Given the description of an element on the screen output the (x, y) to click on. 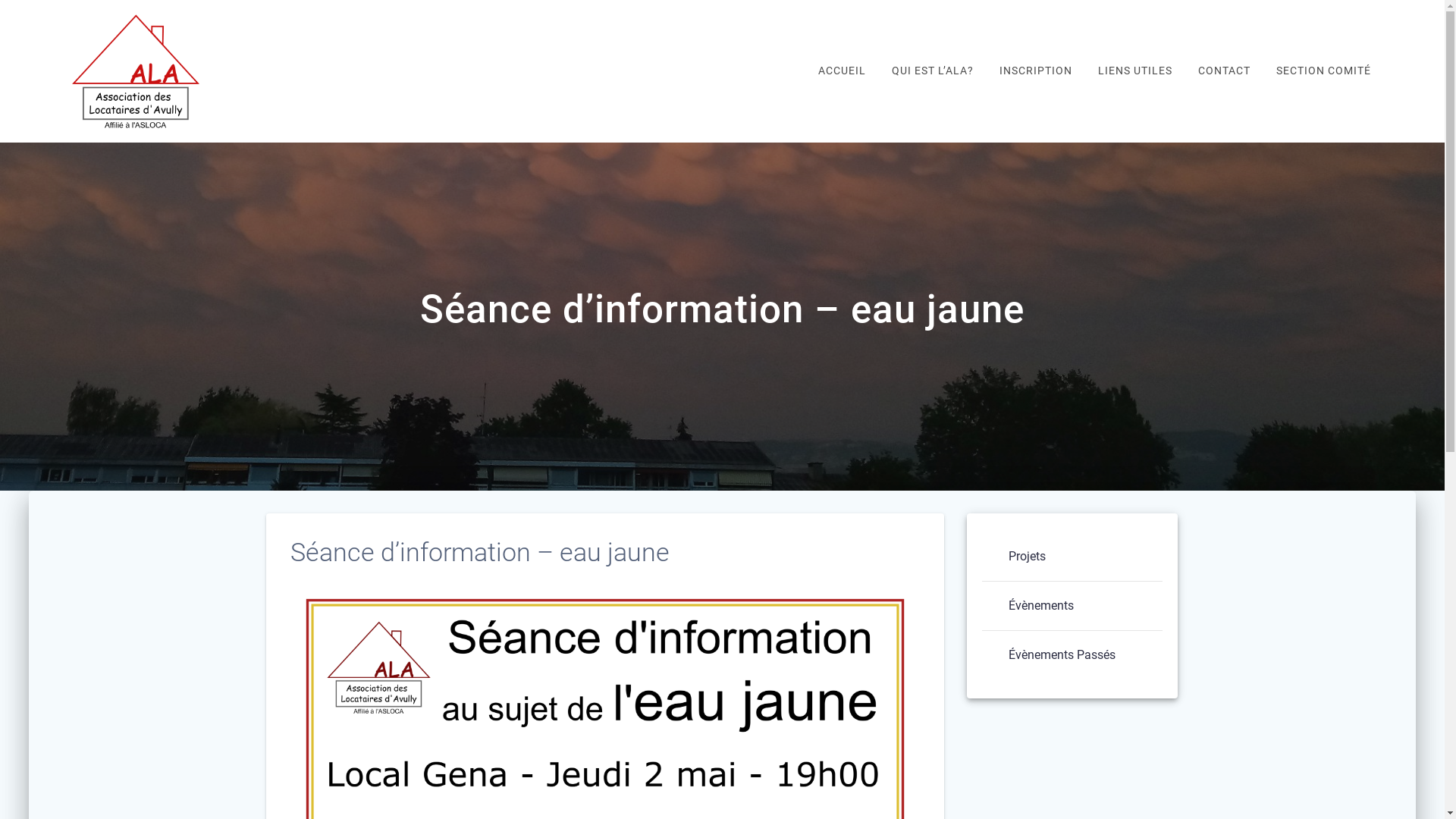
Projets Element type: text (1026, 556)
INSCRIPTION Element type: text (1035, 71)
ACCUEIL Element type: text (841, 71)
CONTACT Element type: text (1224, 71)
LIENS UTILES Element type: text (1135, 71)
